Given the description of an element on the screen output the (x, y) to click on. 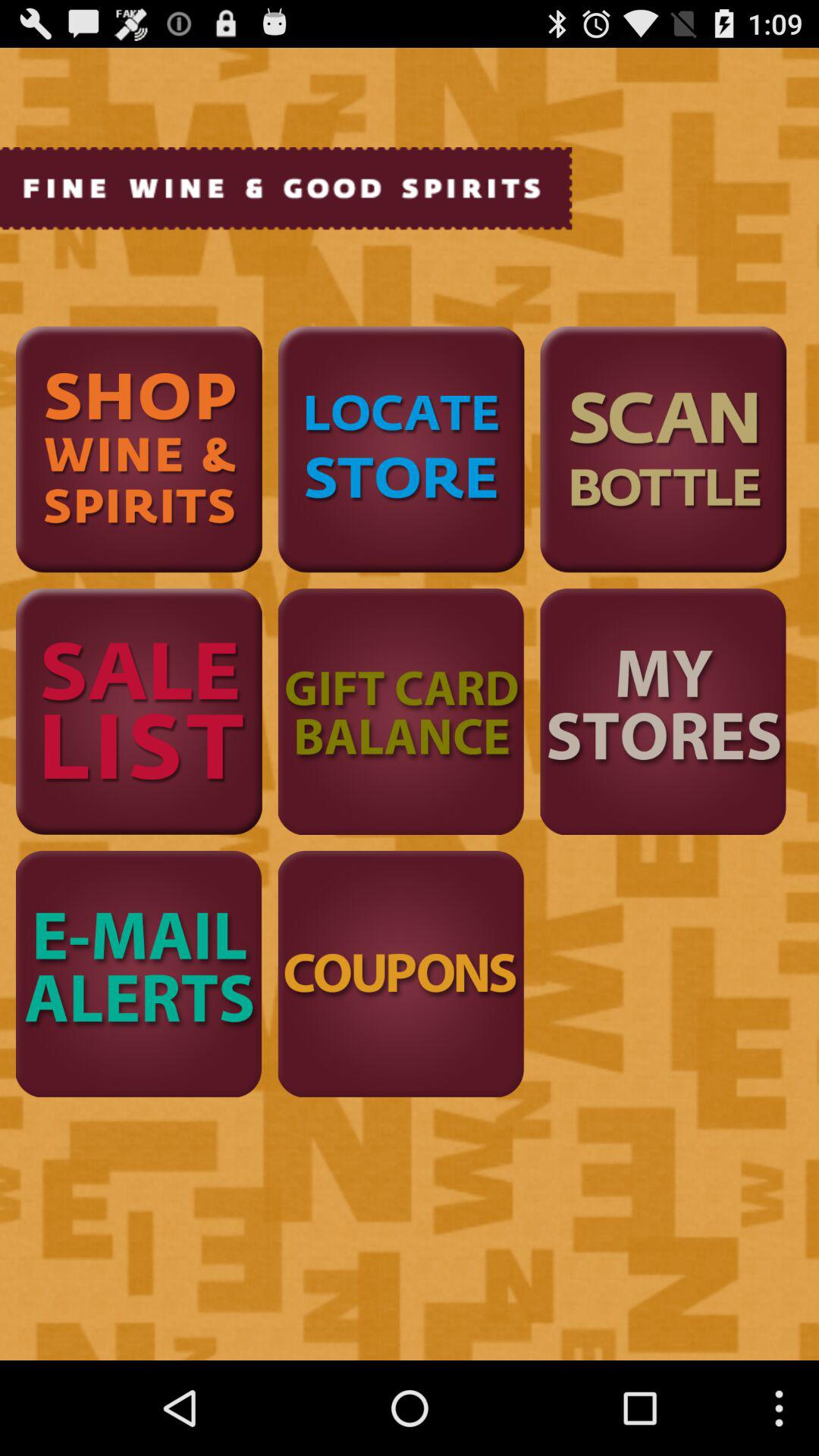
go to location of stores (401, 449)
